Given the description of an element on the screen output the (x, y) to click on. 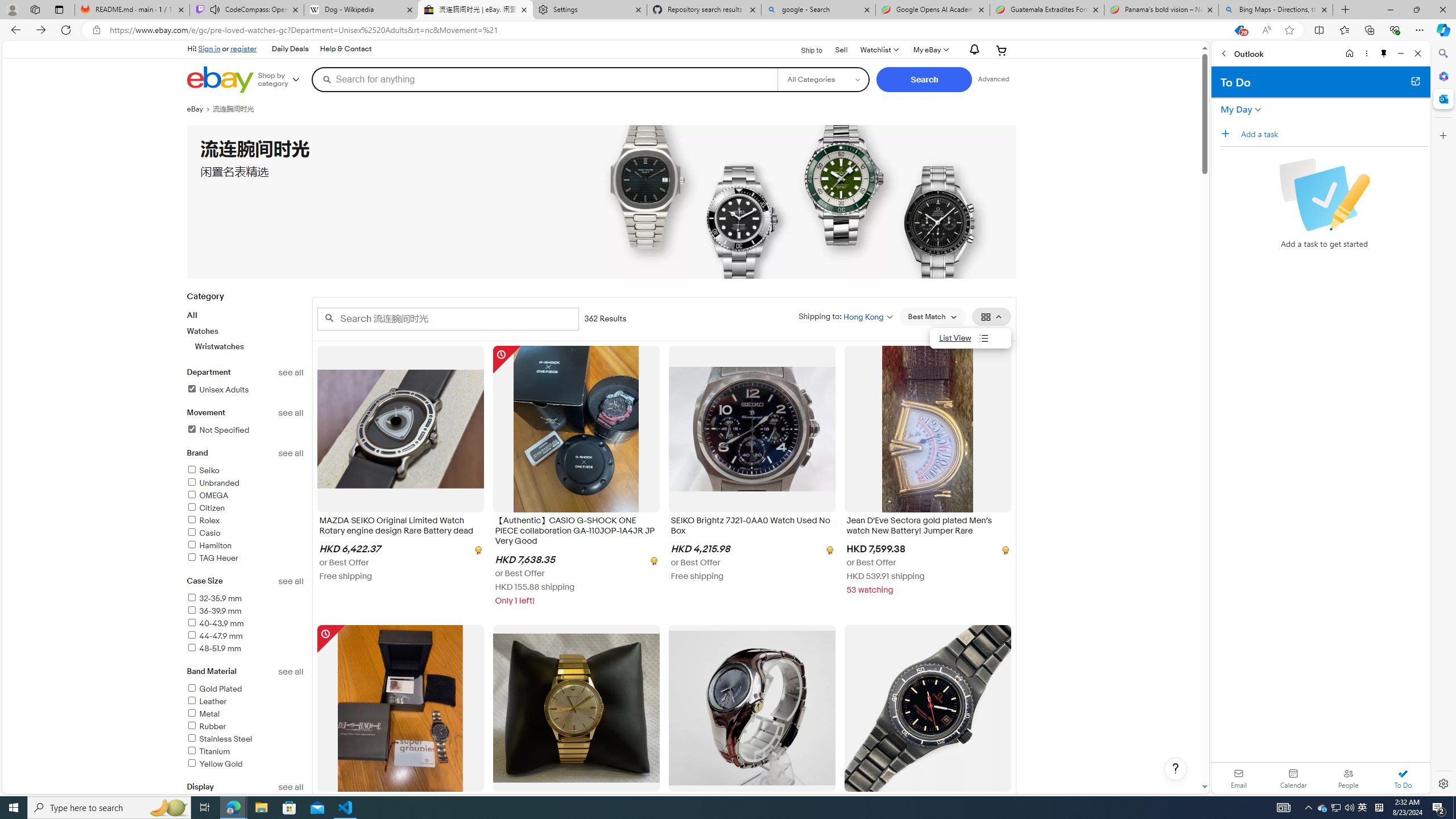
TAG Heuer (245, 558)
List View (970, 338)
40-43.9 mm (215, 623)
Watchlist (878, 49)
Unbranded (213, 483)
Leather (245, 701)
See all display refinements (291, 787)
Seiko (245, 471)
40-43.9 mm (245, 624)
Your shopping cart (1001, 49)
Customize (1442, 135)
TAG Heuer (212, 558)
Movementsee allNot SpecifiedFilter Applied (245, 427)
